Given the description of an element on the screen output the (x, y) to click on. 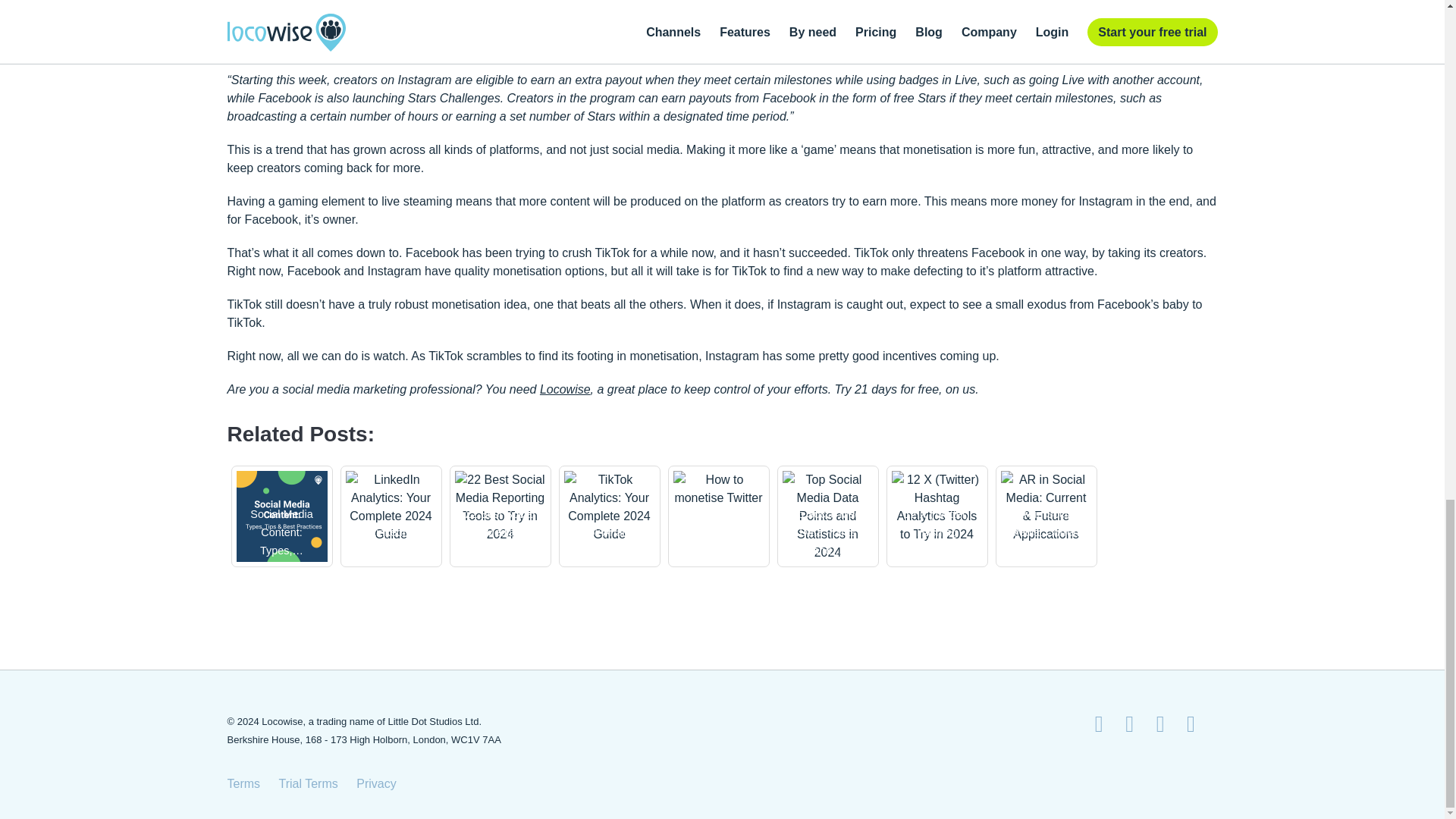
22 Best Social Media Reporting Tools to Try in 2024 (500, 506)
LinkedIn Analytics: Your Complete 2024 Guide (391, 506)
TikTok Analytics: Your Complete 2024 Guide (609, 506)
Top Social Media Data Points and Statistics in 2024 (828, 515)
How to monetise Twitter (718, 488)
Locowise (565, 389)
Social Media Content: Types, Tips and Best Practices (281, 515)
